Given the description of an element on the screen output the (x, y) to click on. 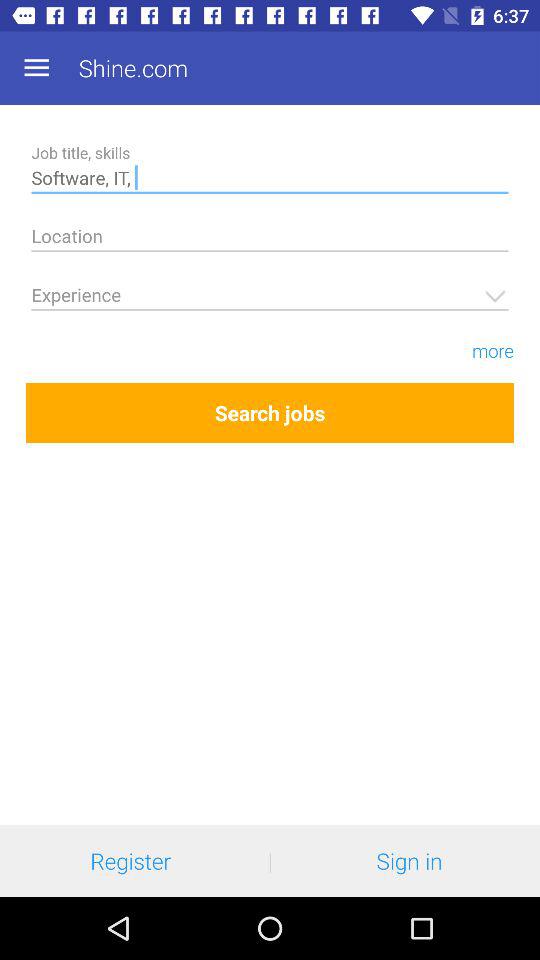
enter the working year (269, 298)
